Given the description of an element on the screen output the (x, y) to click on. 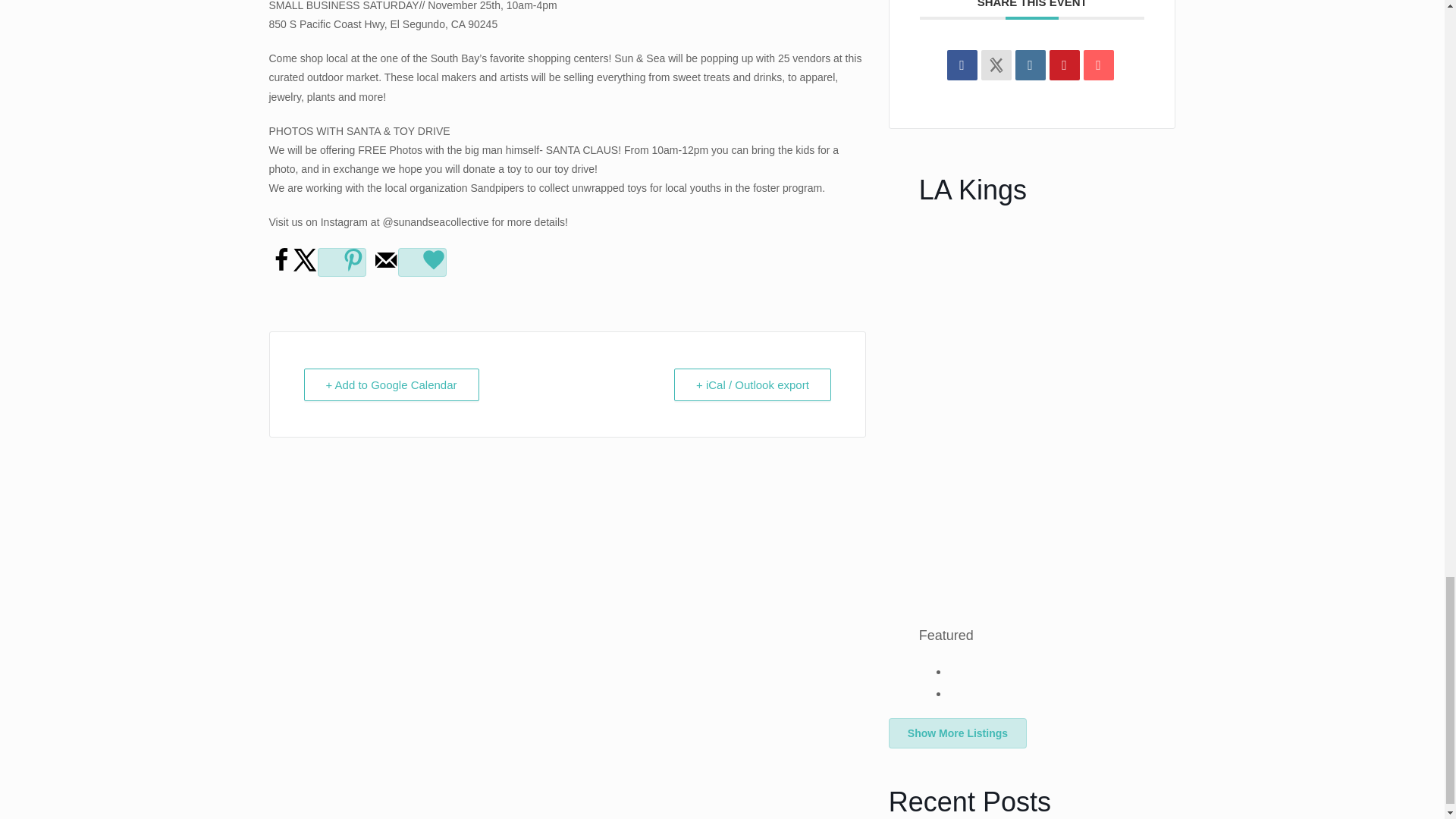
Share on X (304, 268)
Save on Grow.me (421, 262)
Share on Facebook (961, 64)
Save to Pinterest (341, 262)
Send over email (384, 268)
Share on Facebook (279, 268)
X Social Network (996, 64)
Email (1098, 64)
Share on Pinterest (1064, 64)
Linkedin (1029, 64)
